Given the description of an element on the screen output the (x, y) to click on. 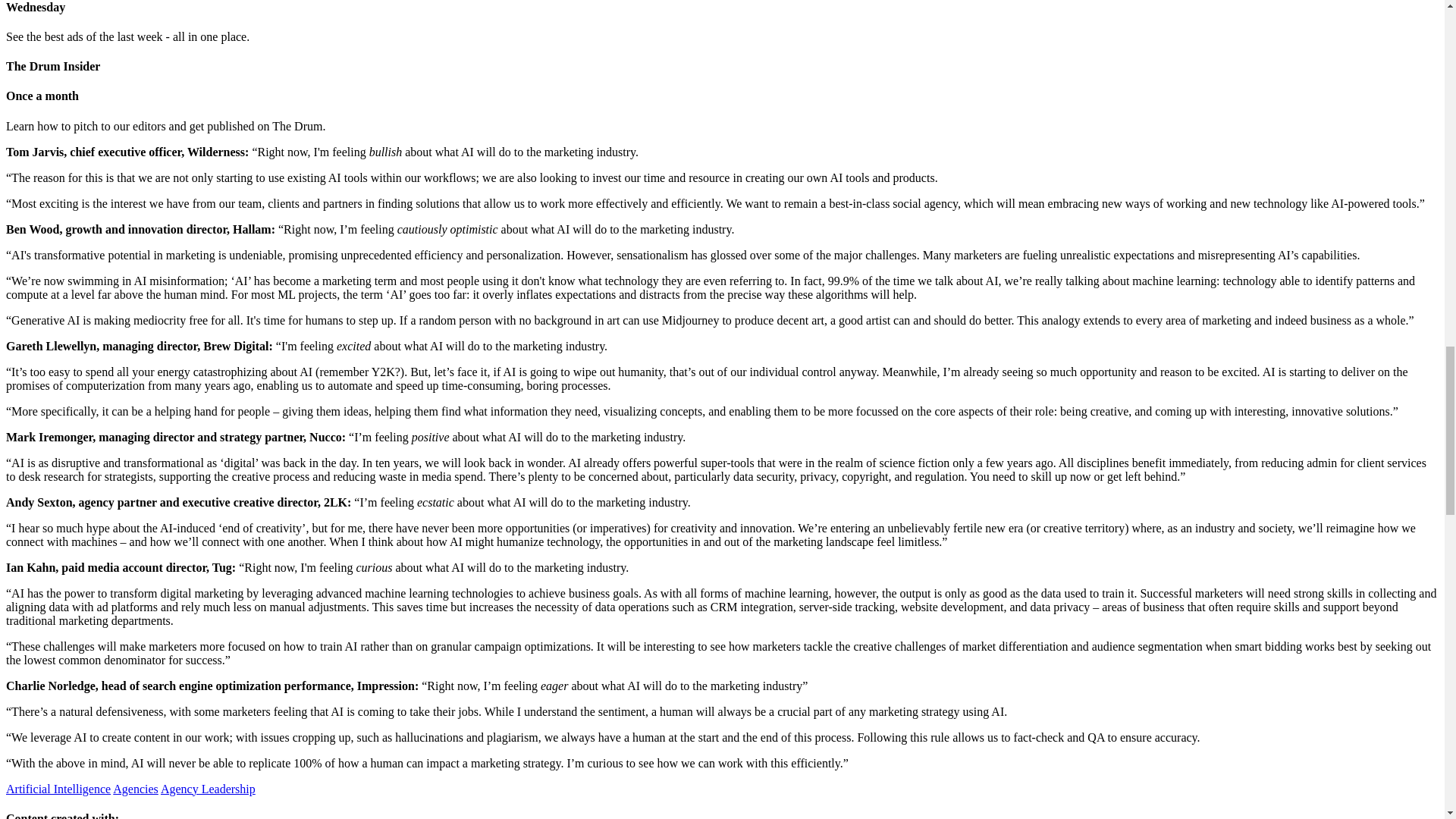
Agency Leadership (208, 788)
Artificial Intelligence (57, 788)
Agencies (135, 788)
